Given the description of an element on the screen output the (x, y) to click on. 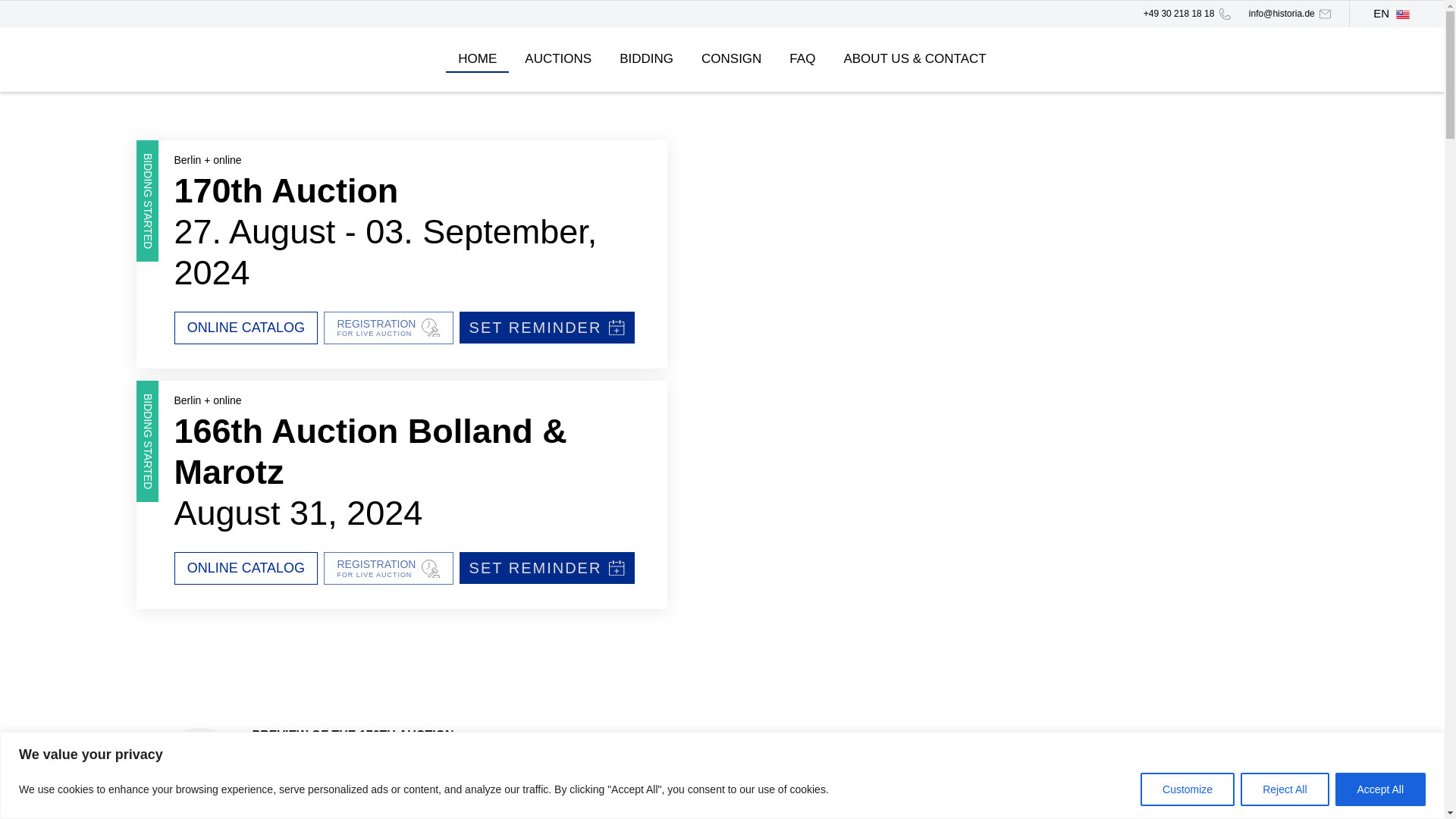
HOME (476, 59)
Customize (1187, 788)
Accept All (1380, 788)
CONSIGN (387, 327)
Reject All (730, 59)
170th Auction (1283, 788)
ONLINE CATALOG (406, 190)
BIDDING (246, 327)
ONLINE CATALOG (646, 59)
